Given the description of an element on the screen output the (x, y) to click on. 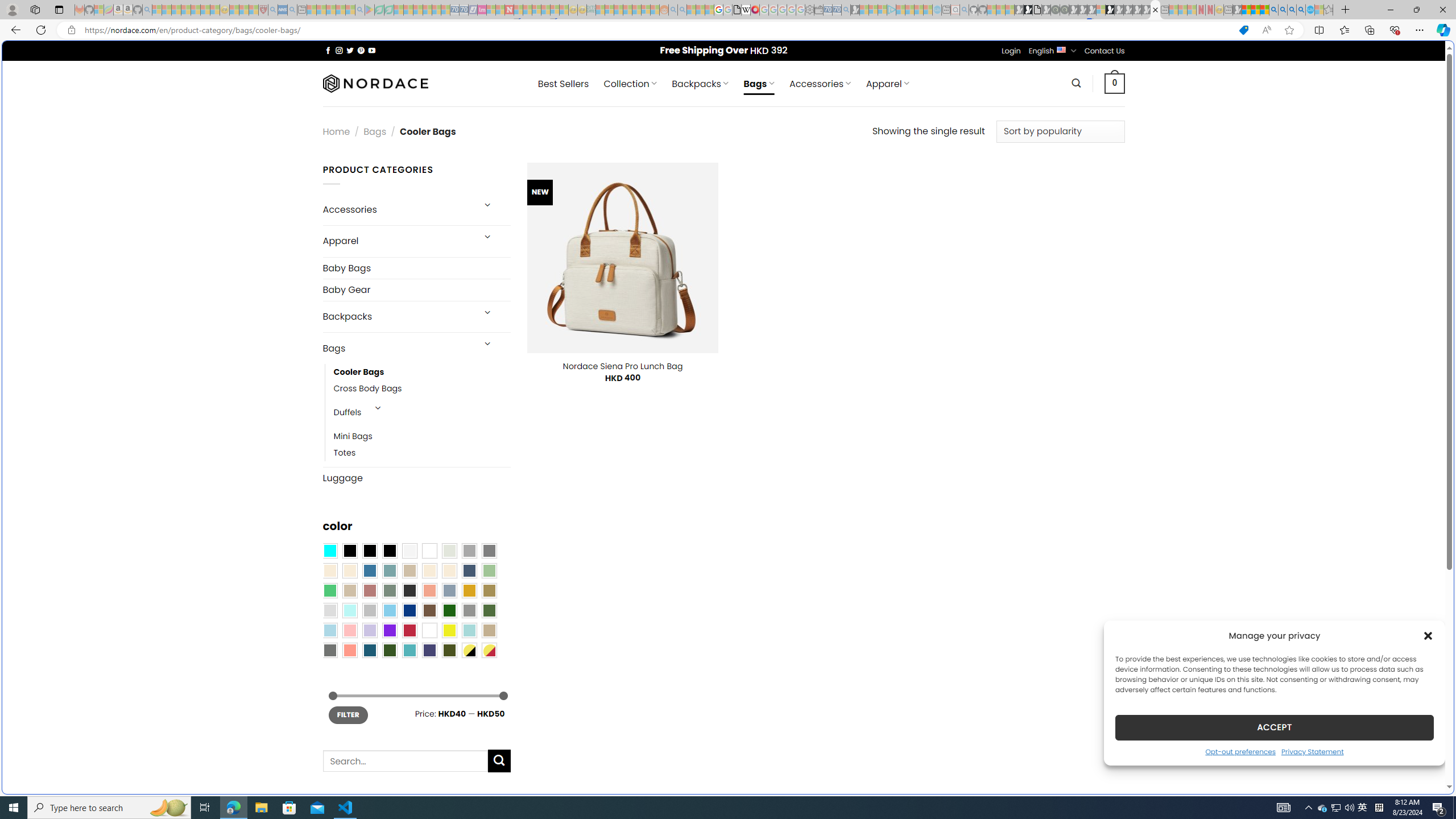
Caramel (429, 570)
Black (369, 550)
Light Taupe (349, 590)
Cross Body Bags (367, 388)
Beige-Brown (349, 570)
